Given the description of an element on the screen output the (x, y) to click on. 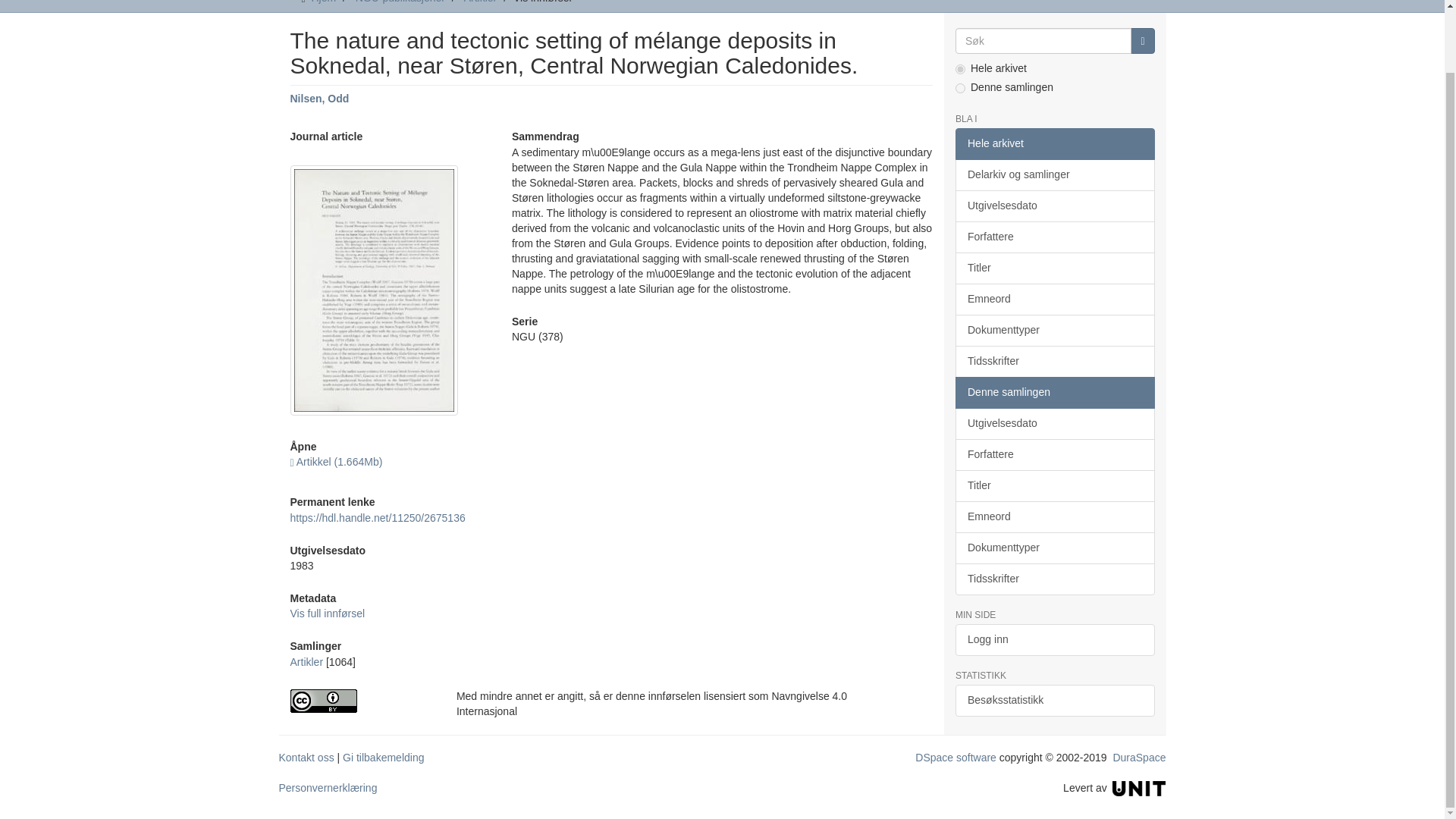
Emneord (1054, 299)
NGU-publikasjoner (400, 2)
Forfattere (1054, 237)
Artikler (306, 662)
Hele arkivet (1054, 143)
Artikler (480, 2)
Navngivelse 4.0 Internasjonal (360, 700)
Titler (1054, 268)
Dokumenttyper (1054, 330)
Unit (1139, 787)
Delarkiv og samlinger (1054, 174)
Hjem (323, 2)
Nilsen, Odd (319, 98)
Utgivelsesdato (1054, 205)
